Given the description of an element on the screen output the (x, y) to click on. 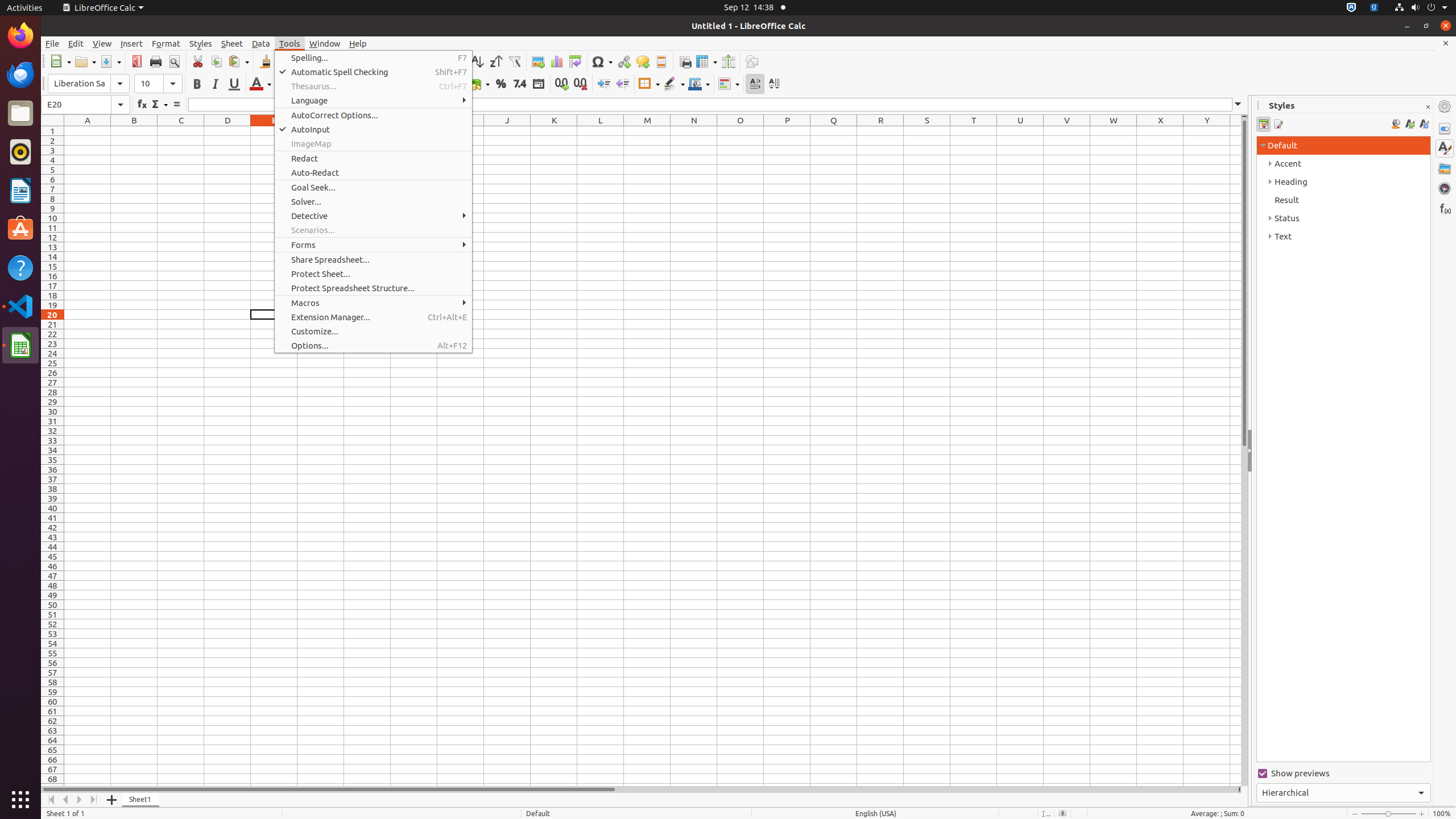
T1 Element type: table-cell (973, 130)
Formula Element type: push-button (176, 104)
Detective Element type: menu (373, 215)
U1 Element type: table-cell (1020, 130)
Underline Element type: push-button (233, 83)
